Given the description of an element on the screen output the (x, y) to click on. 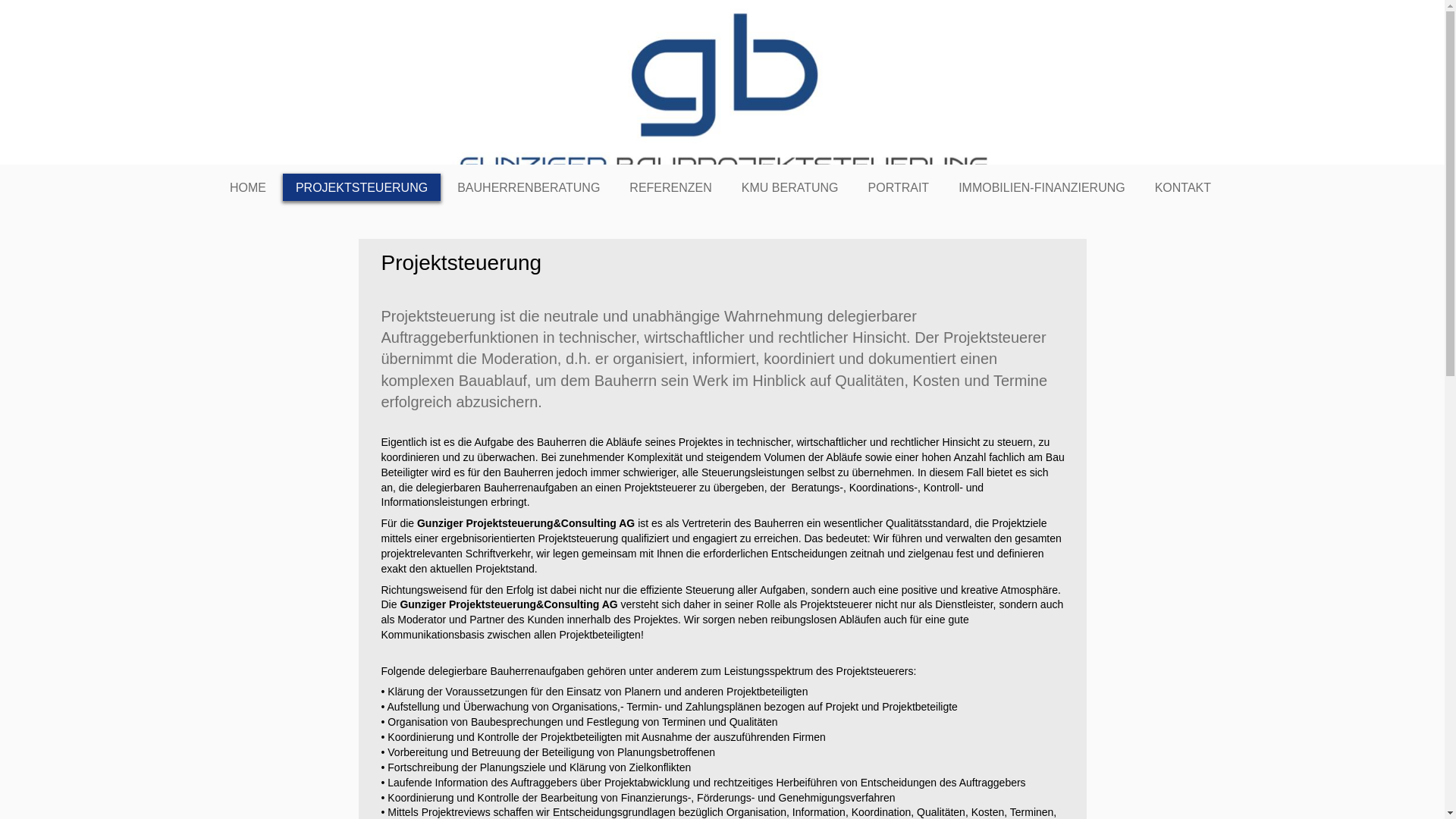
PROJEKTSTEUERUNG Element type: text (361, 186)
REFERENZEN Element type: text (670, 186)
IMMOBILIEN-FINANZIERUNG Element type: text (1041, 186)
PORTRAIT Element type: text (898, 186)
KMU BERATUNG Element type: text (789, 186)
HOME Element type: text (247, 186)
KONTAKT Element type: text (1182, 186)
BAUHERRENBERATUNG Element type: text (528, 186)
